Given the description of an element on the screen output the (x, y) to click on. 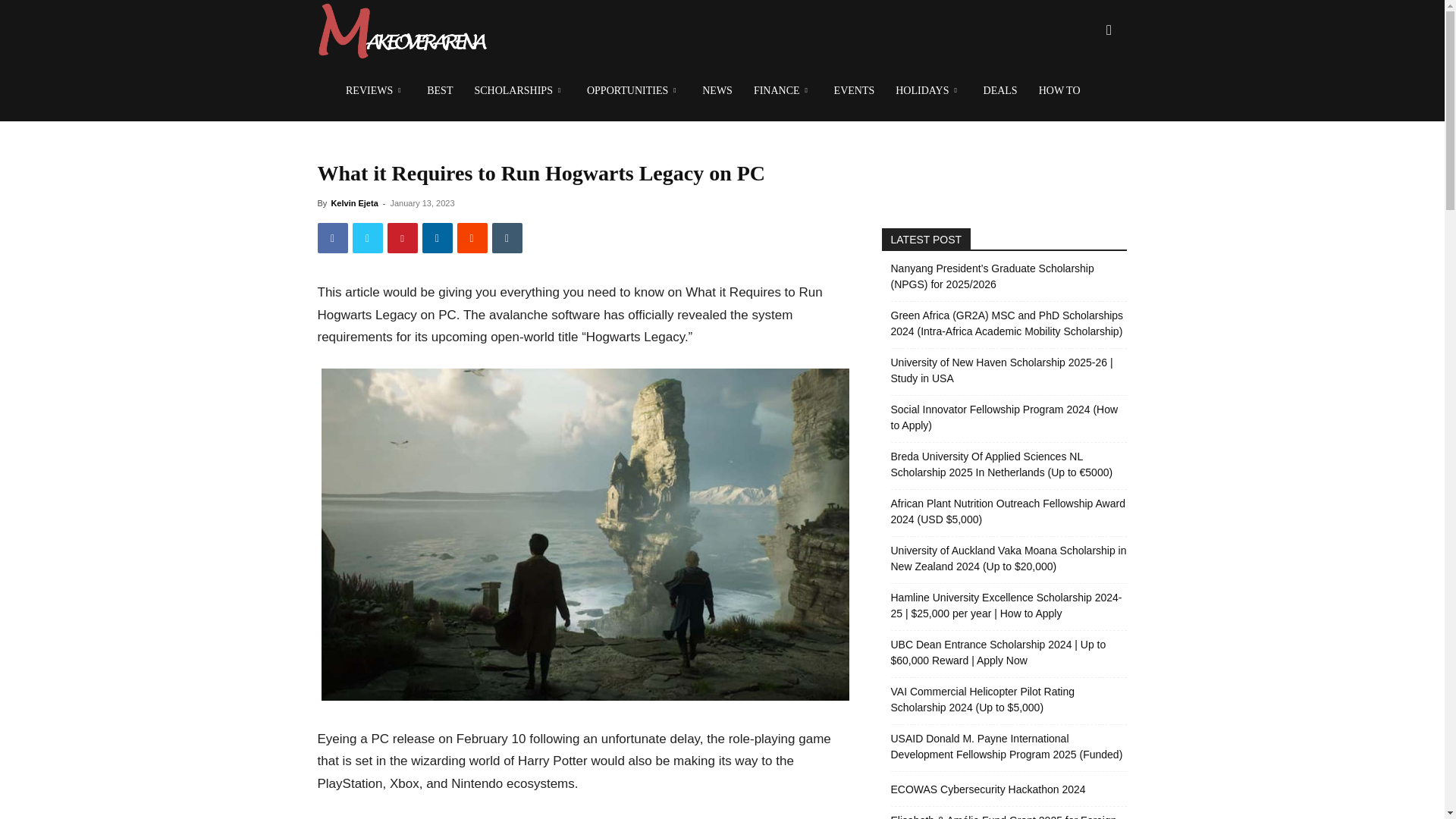
Twitter (366, 237)
Pinterest (401, 237)
Tumblr (506, 237)
Facebook (332, 237)
Linkedin (436, 237)
ReddIt (471, 237)
